Given the description of an element on the screen output the (x, y) to click on. 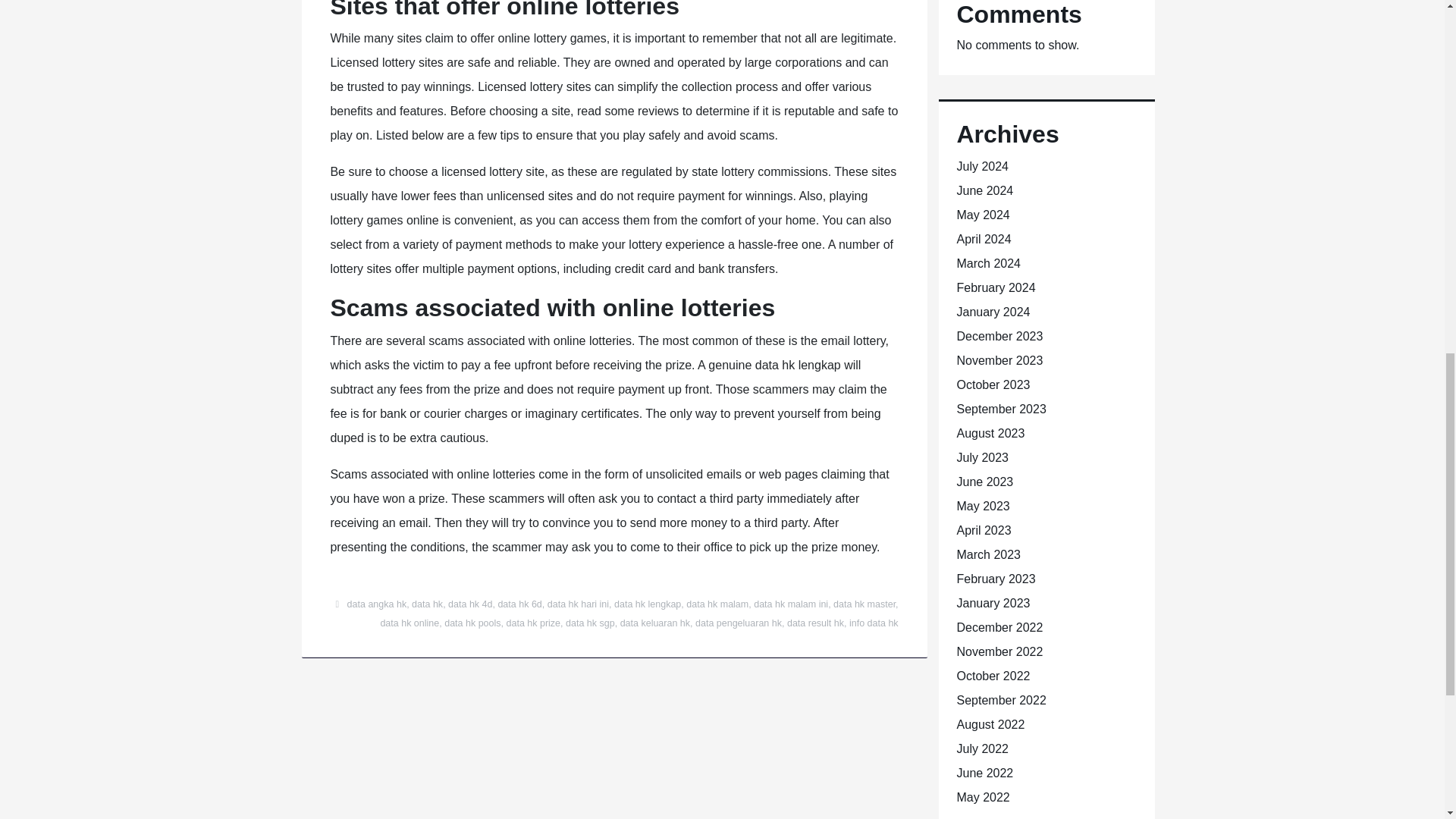
July 2024 (982, 165)
data hk hari ini (577, 603)
October 2023 (993, 384)
November 2023 (999, 359)
data angka hk (377, 603)
data hk malam ini (791, 603)
data hk online (409, 623)
data pengeluaran hk (738, 623)
May 2024 (983, 214)
data keluaran hk (655, 623)
